Given the description of an element on the screen output the (x, y) to click on. 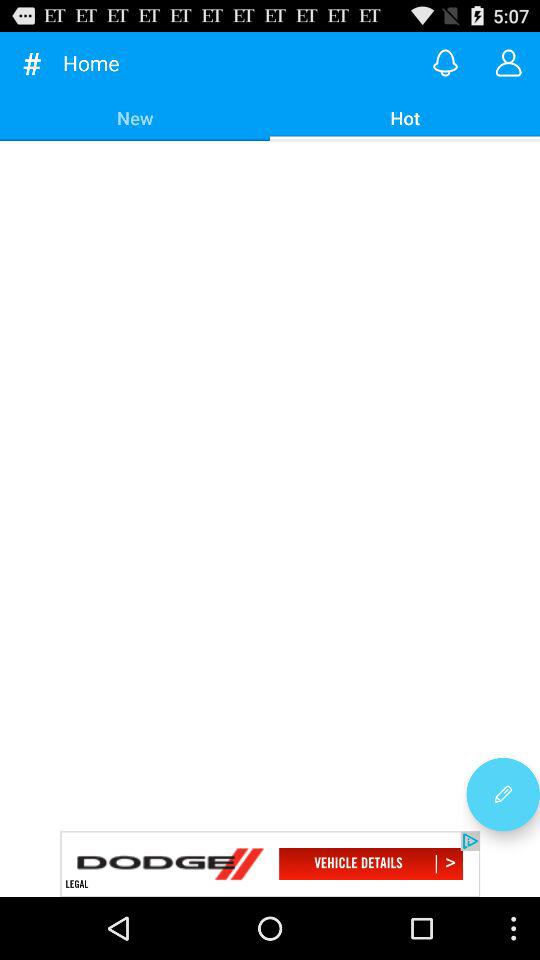
check notifications (445, 62)
